Given the description of an element on the screen output the (x, y) to click on. 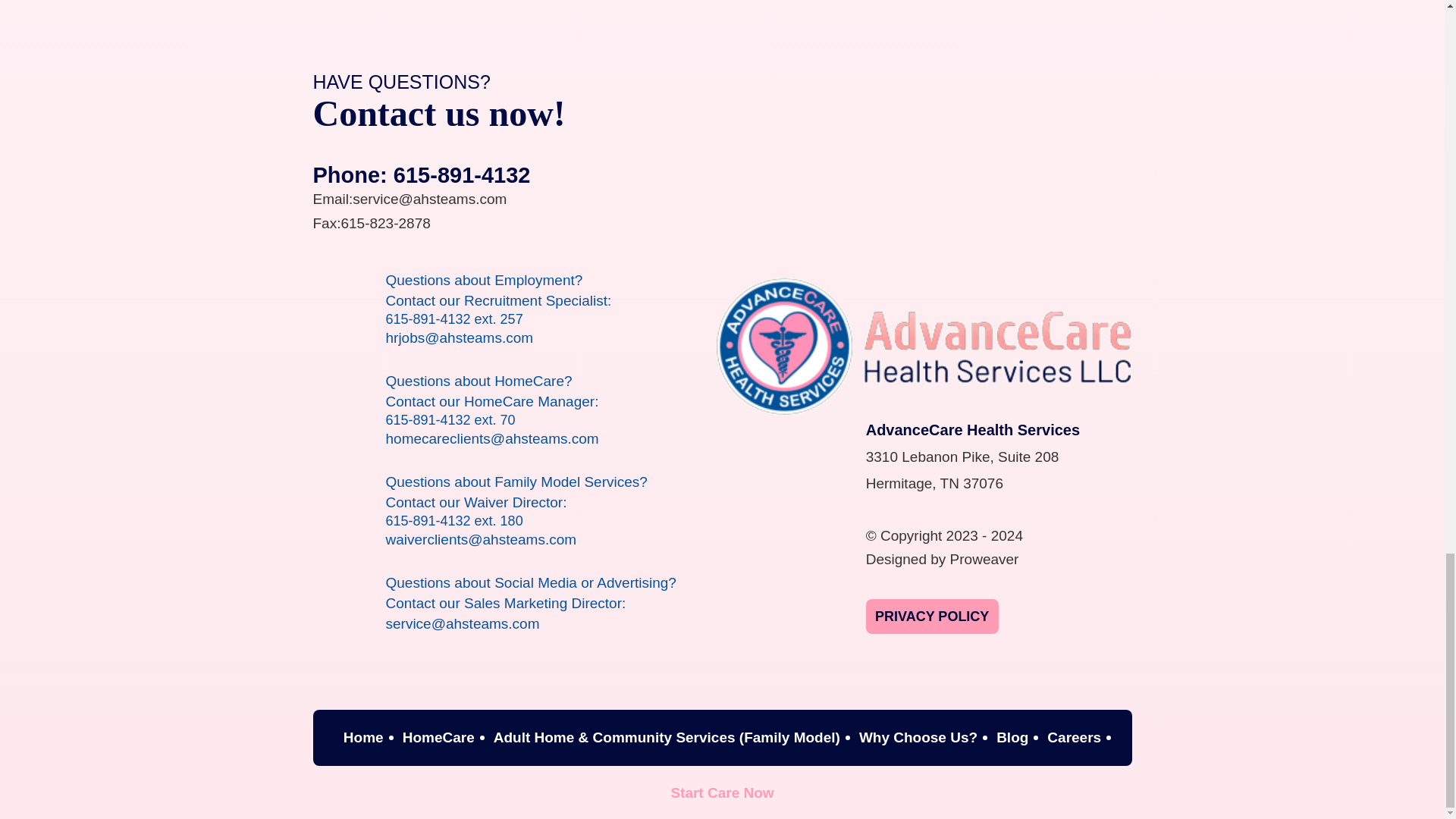
Home (363, 737)
HomeCare (437, 737)
Why Choose Us? (918, 737)
PRIVACY POLICY (932, 615)
Careers (1073, 737)
Designed by (906, 559)
Proweaver (984, 559)
